Given the description of an element on the screen output the (x, y) to click on. 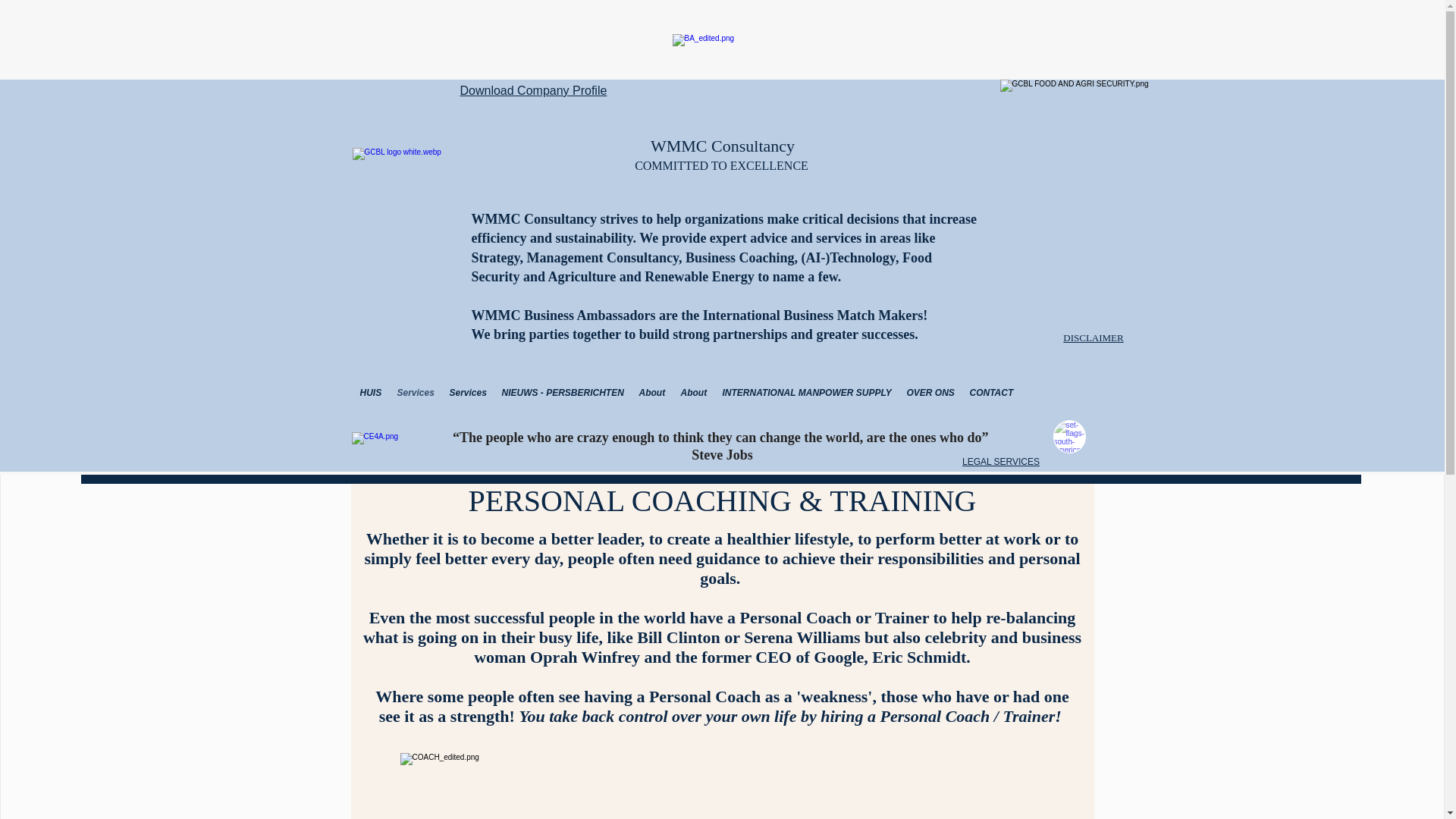
INTERNATIONAL MANPOWER SUPPLY (806, 392)
WMMC Consultancy (722, 145)
NIEUWS - PERSBERICHTEN (563, 392)
Download Company Profile (533, 90)
DISCLAIMER (1092, 337)
Services (467, 392)
HUIS (370, 392)
Services (416, 392)
About (693, 392)
OVER ONS (930, 392)
About (651, 392)
